Given the description of an element on the screen output the (x, y) to click on. 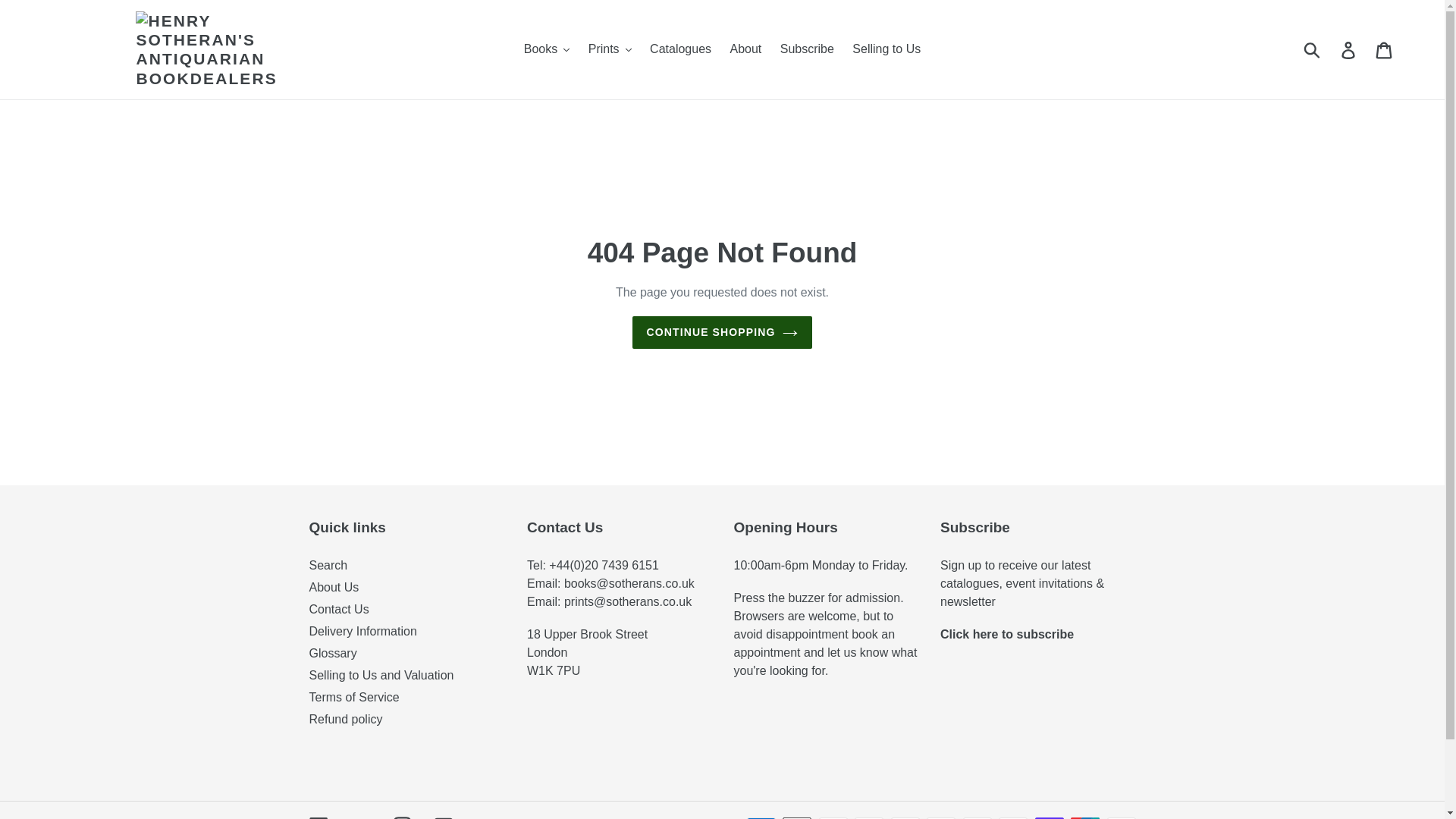
Cart (1385, 49)
Subscribe (1007, 634)
Submit (1313, 49)
Selling to Us (886, 48)
Subscribe (807, 48)
Catalogues (680, 48)
About (745, 48)
Log in (1349, 49)
